Given the description of an element on the screen output the (x, y) to click on. 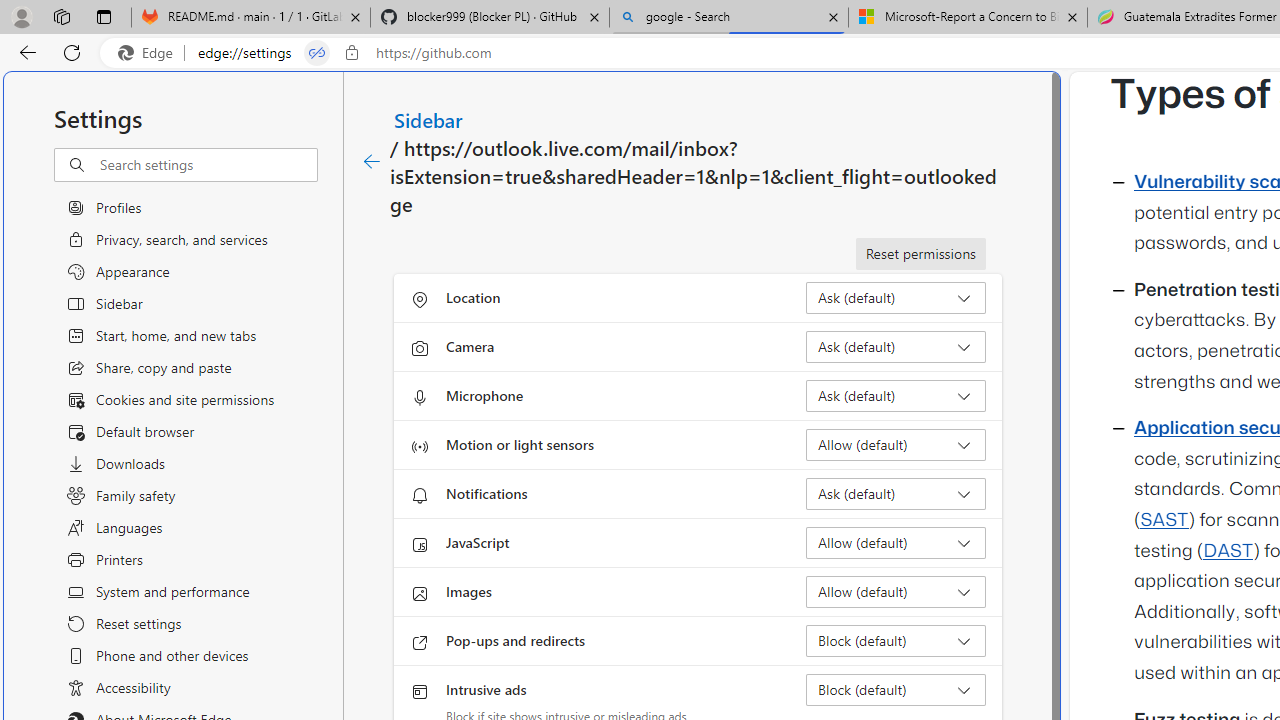
Motion or light sensors Allow (default) (895, 444)
Intrusive ads Block (default) (895, 689)
JavaScript Allow (default) (895, 542)
Edge (150, 53)
Microphone Ask (default) (895, 395)
Notifications Ask (default) (895, 493)
Images Allow (default) (895, 591)
Pop-ups and redirects Block (default) (895, 640)
Camera Ask (default) (895, 346)
Location Ask (default) (895, 297)
Tabs in split screen (317, 53)
